Given the description of an element on the screen output the (x, y) to click on. 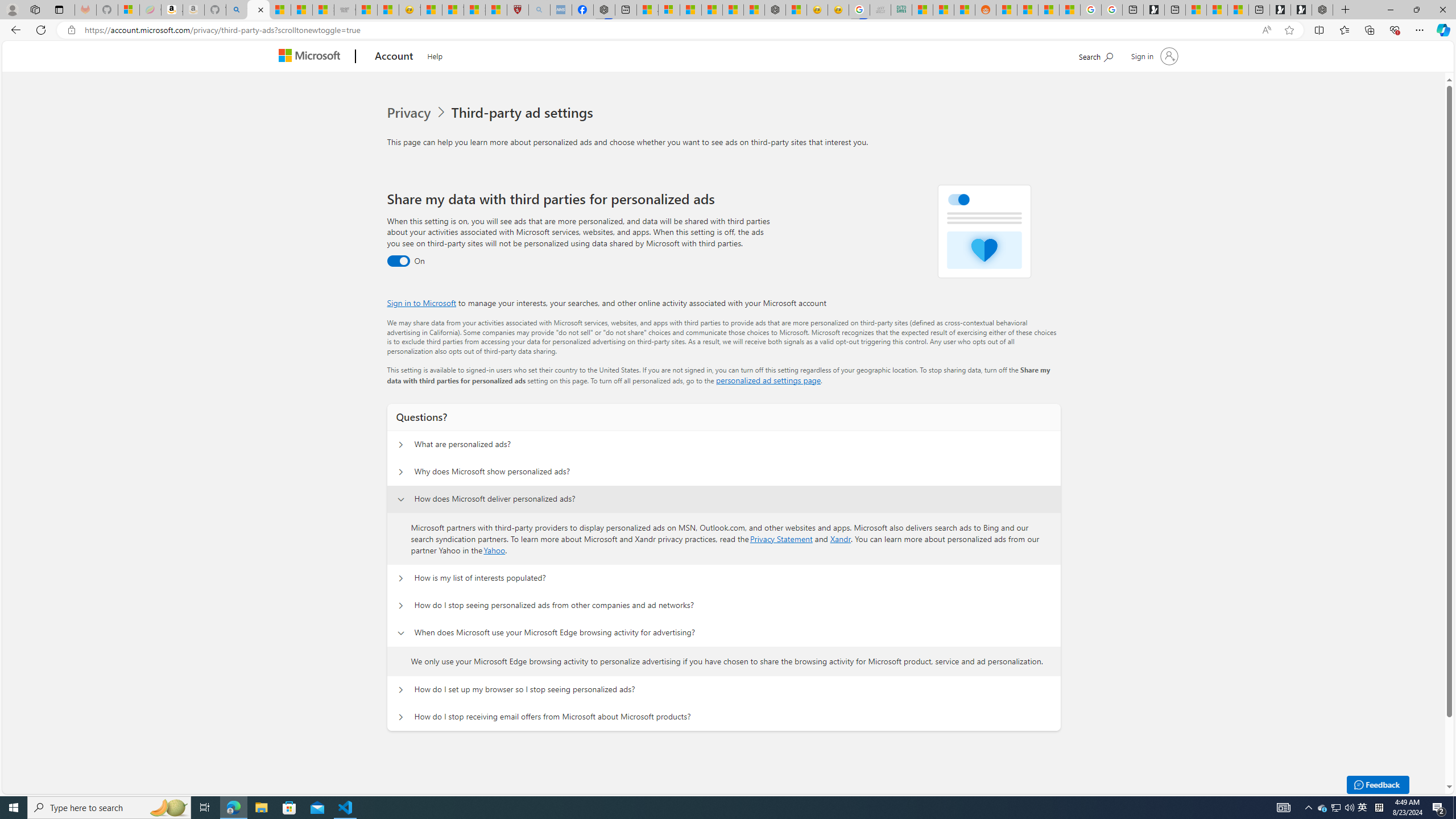
R******* | Trusted Community Engagement and Contributions (1006, 9)
14 Common Myths Debunked By Scientific Facts (732, 9)
Yahoo (494, 549)
